Given the description of an element on the screen output the (x, y) to click on. 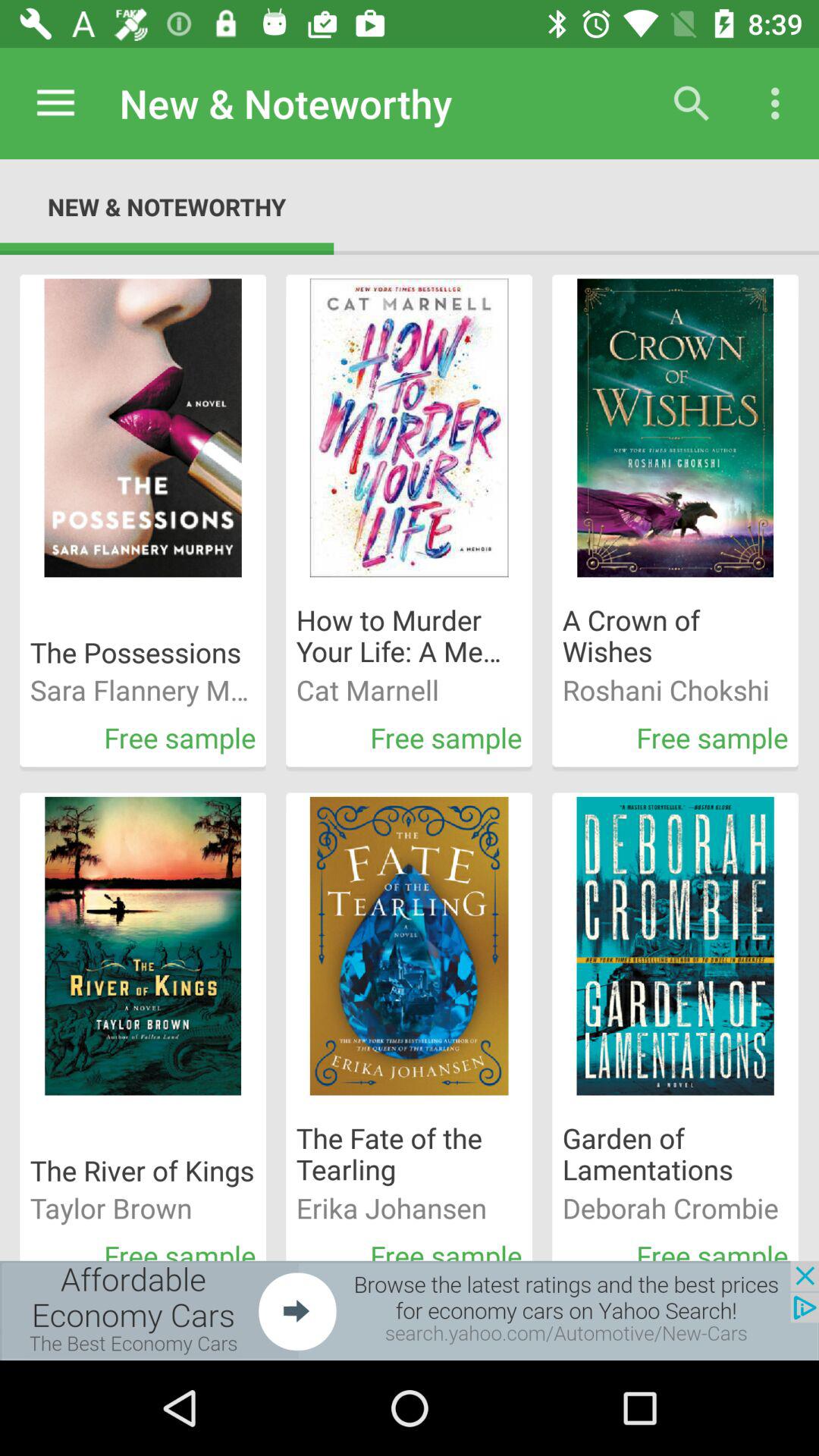
go to next (409, 1310)
